Given the description of an element on the screen output the (x, y) to click on. 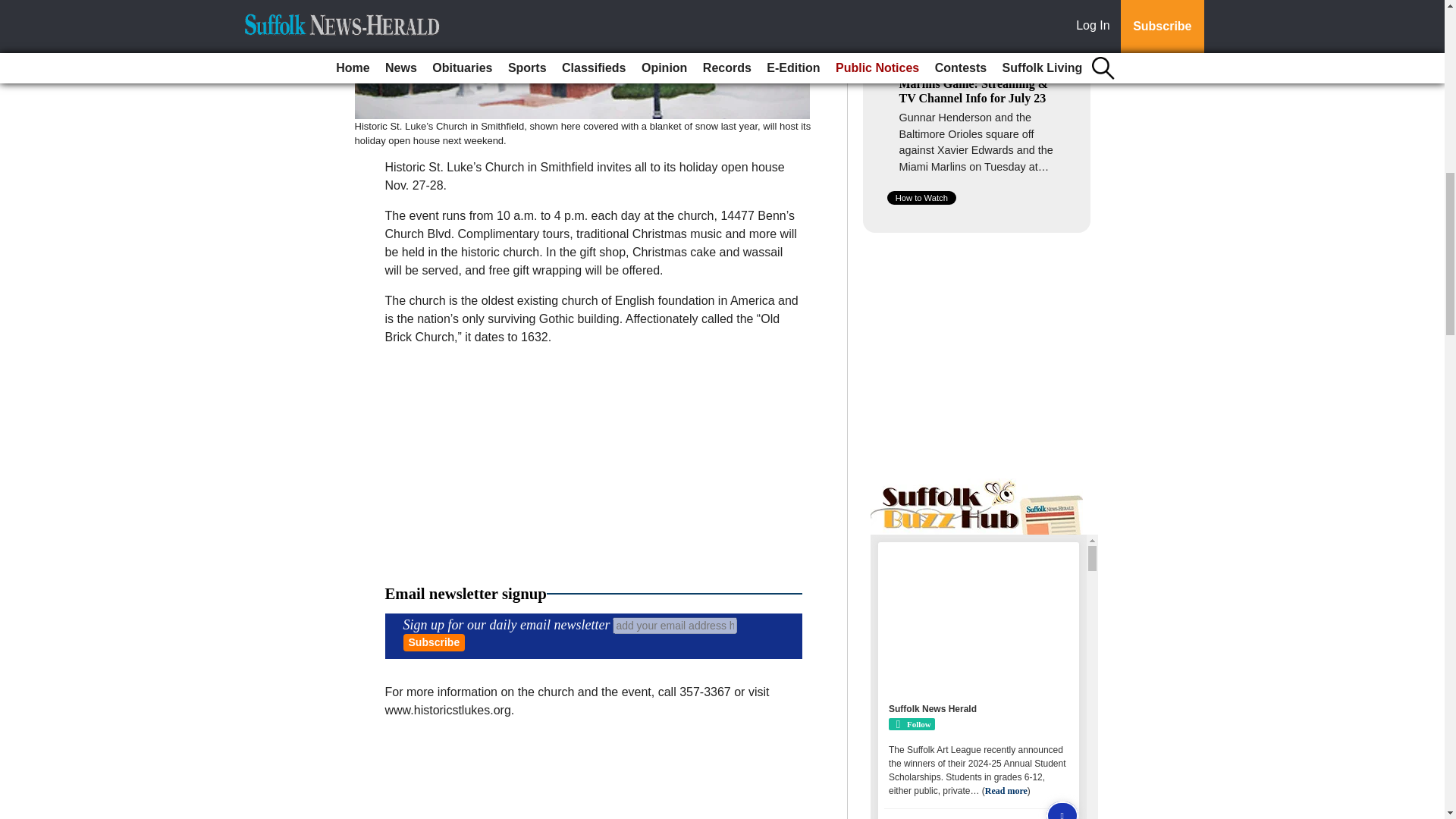
Subscribe (434, 642)
How to Watch (921, 197)
Subscribe (434, 642)
